Given the description of an element on the screen output the (x, y) to click on. 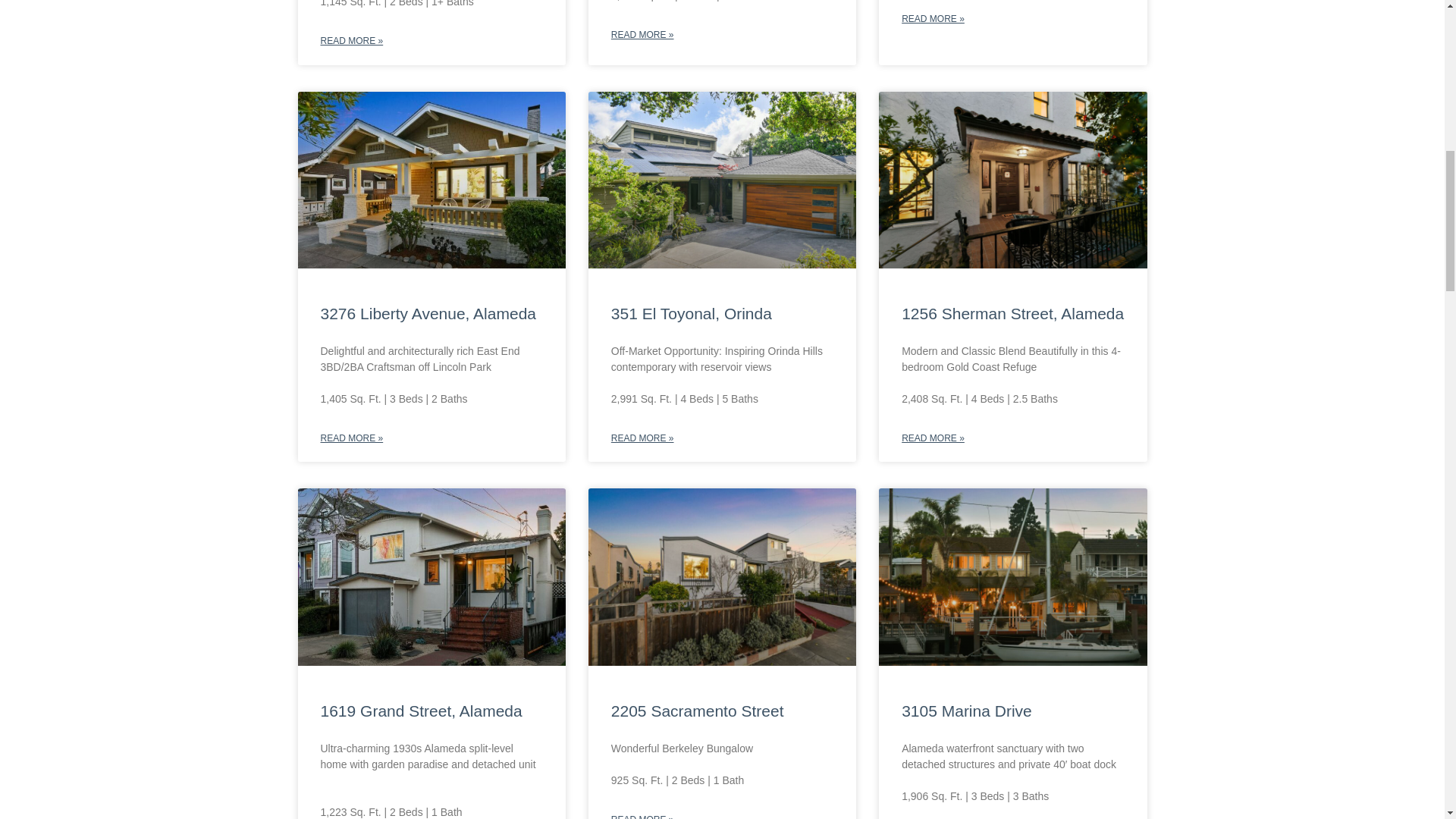
3105 Marina Drive (966, 710)
2205 Sacramento Street (697, 710)
3276 Liberty Avenue, Alameda (427, 313)
1619 Grand Street, Alameda (420, 710)
1256 Sherman Street, Alameda (1012, 313)
351 El Toyonal, Orinda (691, 313)
